Given the description of an element on the screen output the (x, y) to click on. 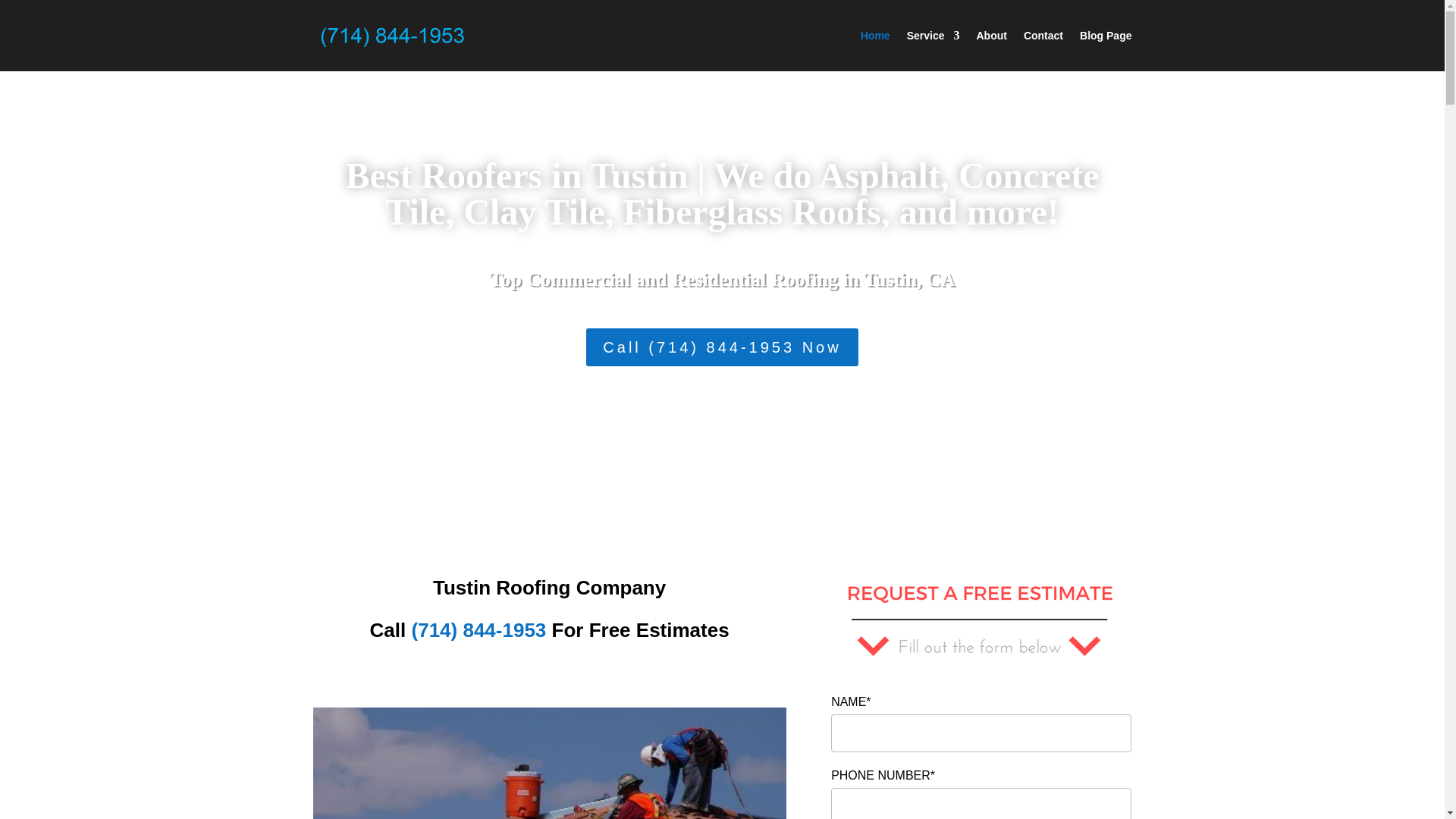
Blog Page (1105, 50)
Contact (1042, 50)
Service (933, 50)
